Given the description of an element on the screen output the (x, y) to click on. 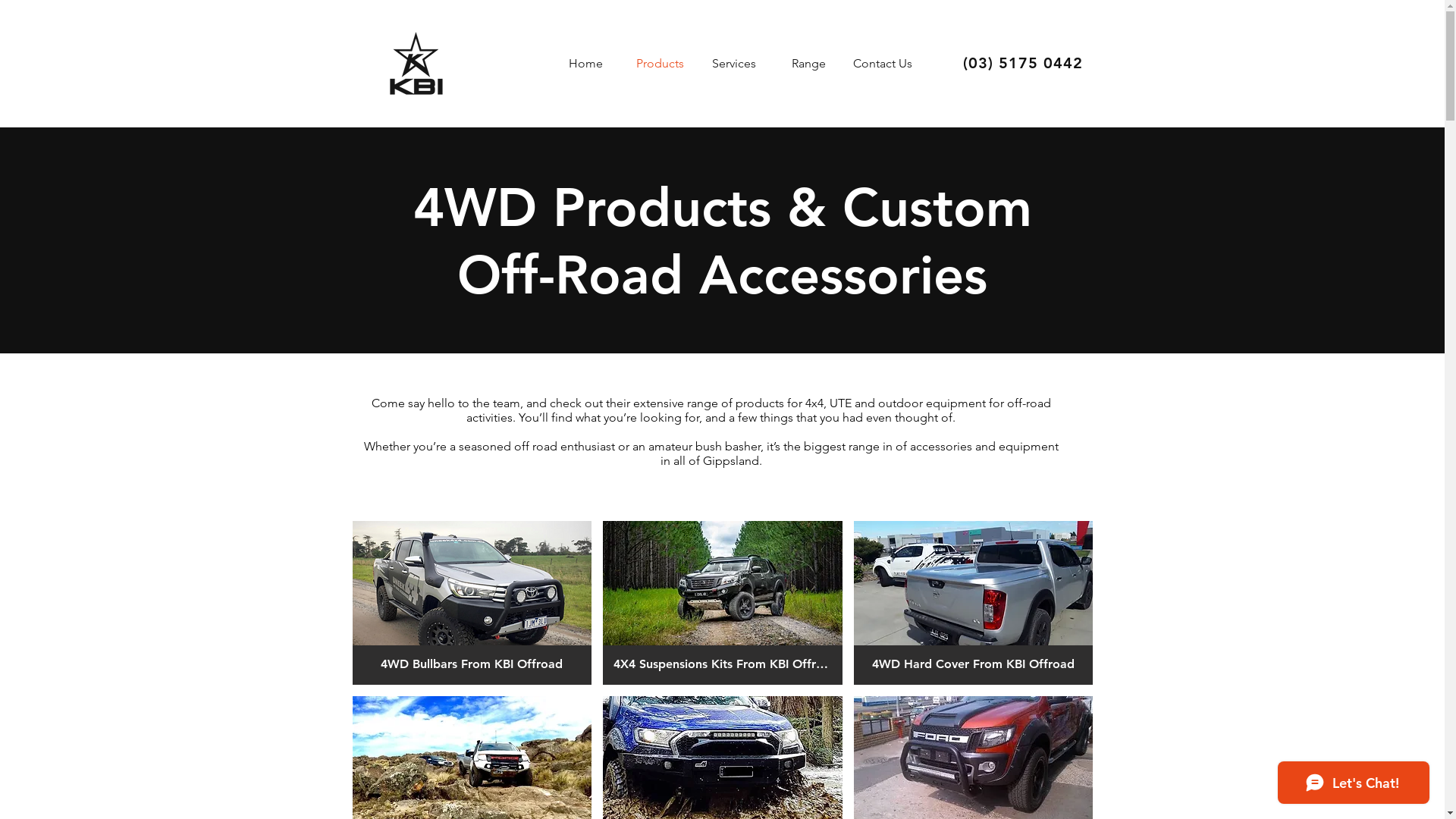
Products Element type: text (659, 63)
(03) 5175 0442 Element type: text (1022, 62)
Services Element type: text (733, 63)
Home Element type: text (585, 63)
Range Element type: text (808, 63)
Contact Us Element type: text (882, 63)
